Given the description of an element on the screen output the (x, y) to click on. 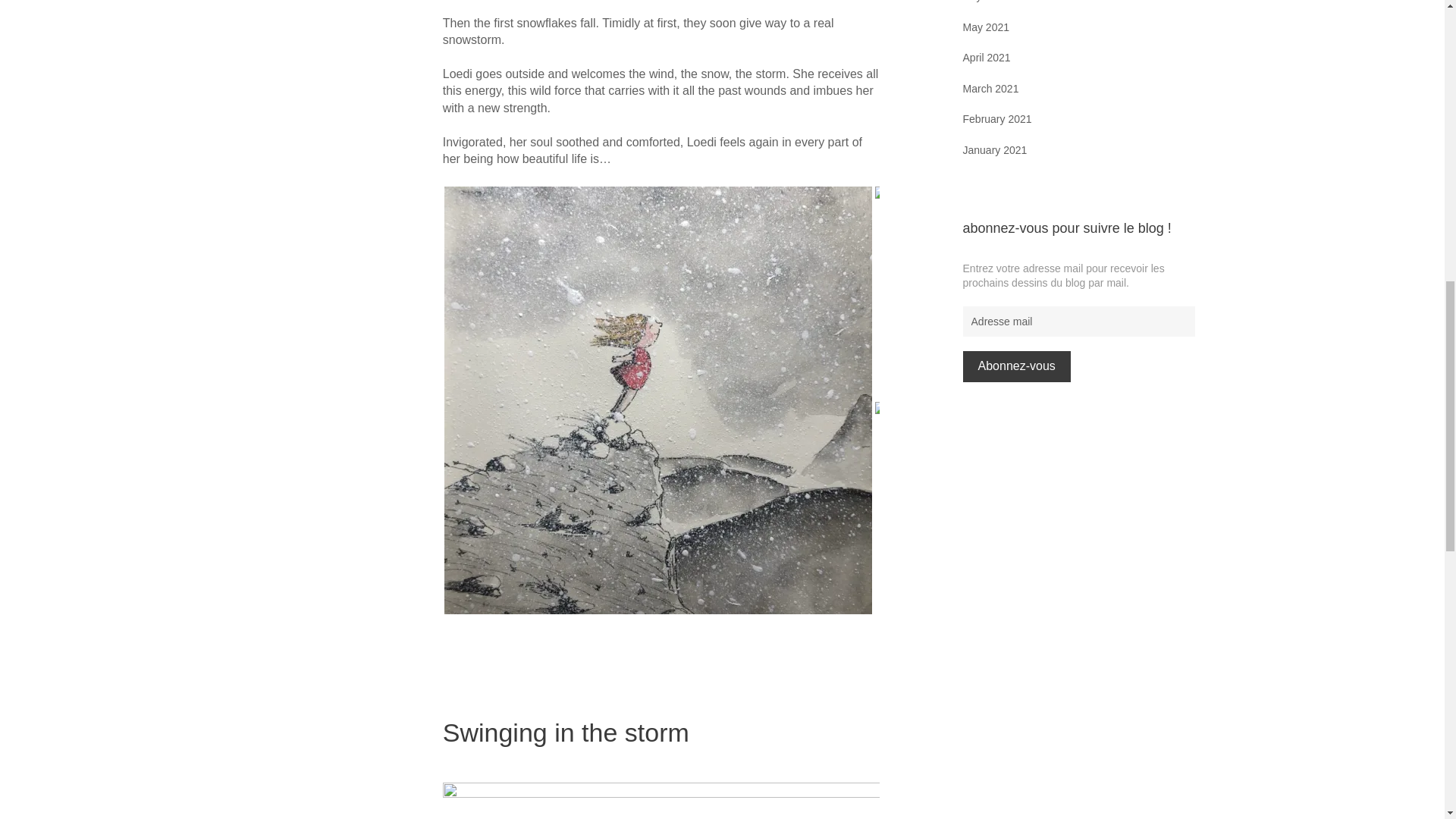
Cabane de berge (981, 508)
